Given the description of an element on the screen output the (x, y) to click on. 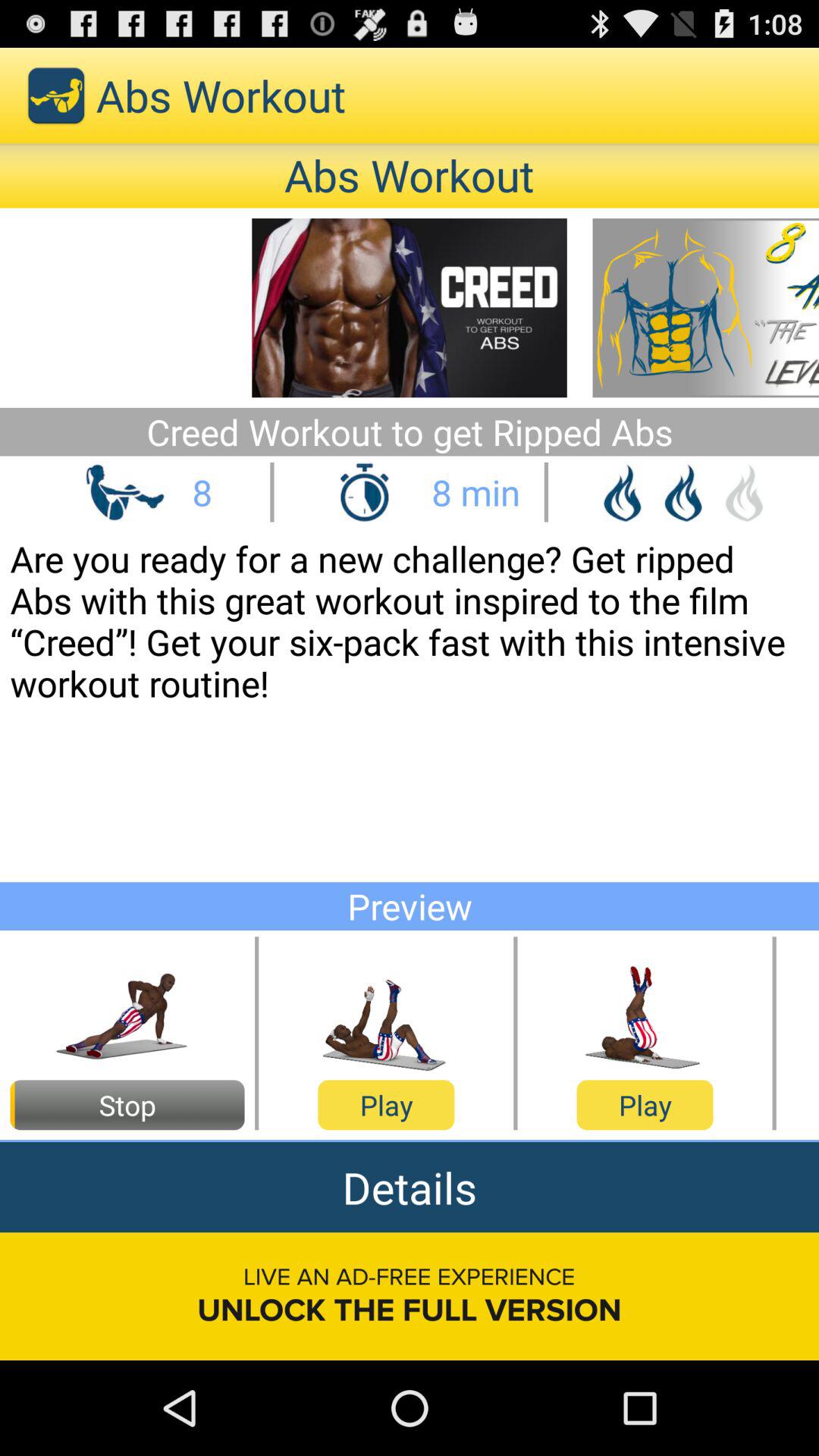
select details item (409, 1187)
